Given the description of an element on the screen output the (x, y) to click on. 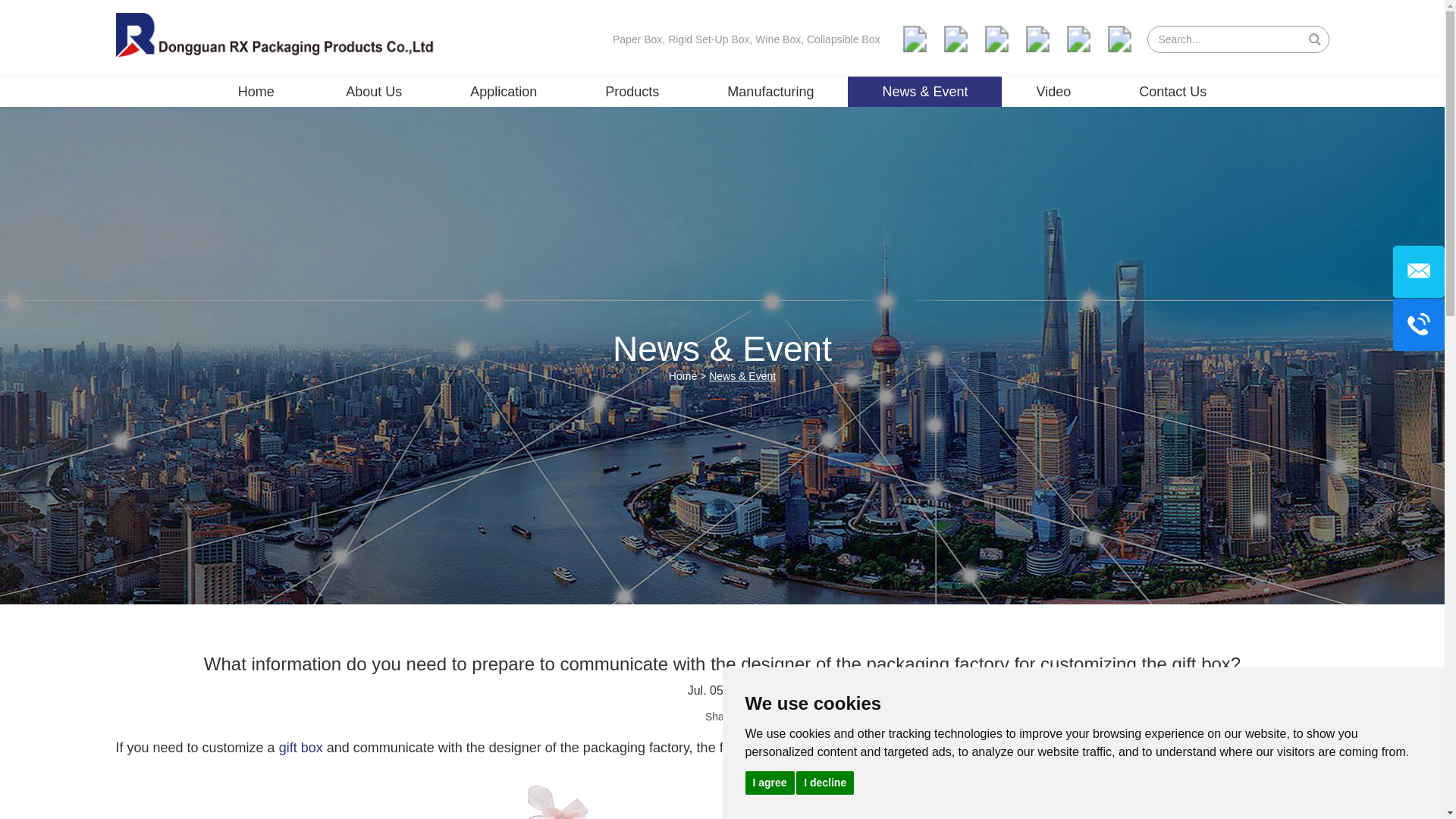
Video (1053, 91)
I agree (768, 781)
Collapsible Box (843, 39)
About Us (373, 91)
About Us (373, 91)
Wine Box, (780, 39)
I decline (824, 781)
Application (502, 91)
Manufacturing (770, 91)
Contact Us (1172, 91)
Home (255, 91)
Application (502, 91)
Video (1053, 91)
Paper Box, (640, 39)
Rigid Set-Up Box, (711, 39)
